Given the description of an element on the screen output the (x, y) to click on. 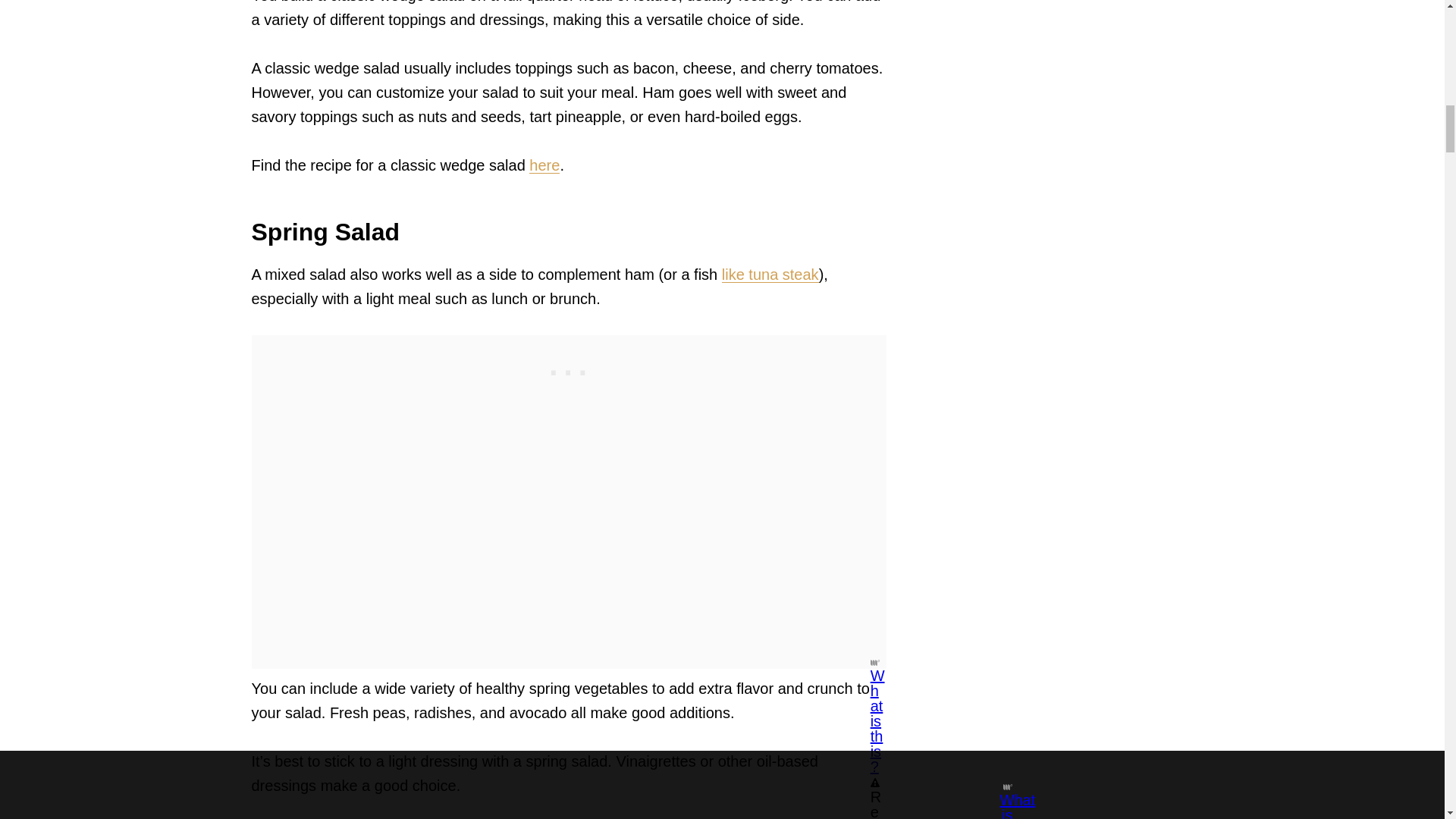
3rd party ad content (568, 368)
